Given the description of an element on the screen output the (x, y) to click on. 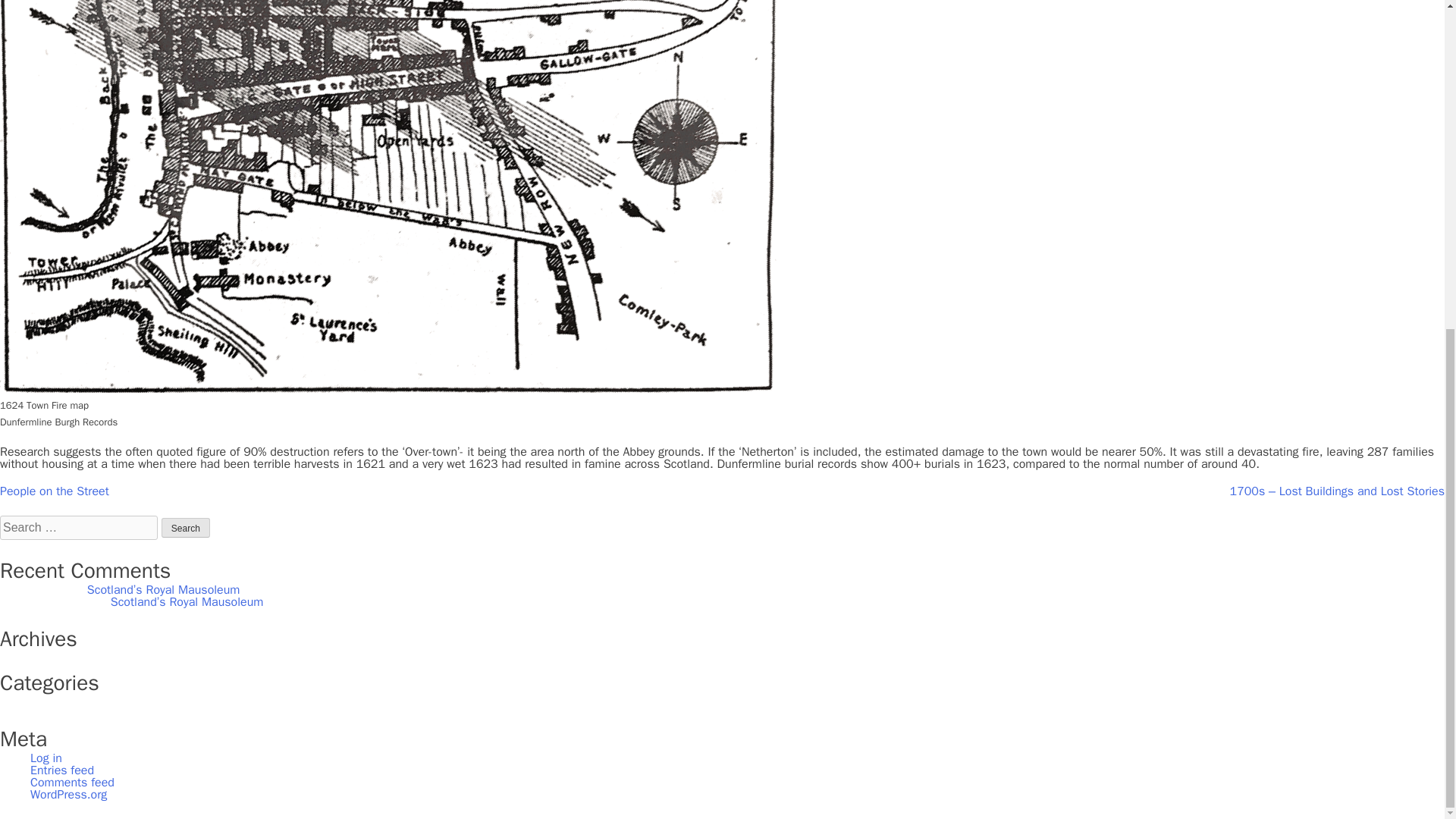
Search (185, 527)
Search (185, 527)
Entries feed (62, 770)
Comments feed (72, 782)
People on the Street (54, 491)
WordPress.org (68, 794)
Search (185, 527)
Log in (46, 758)
